Given the description of an element on the screen output the (x, y) to click on. 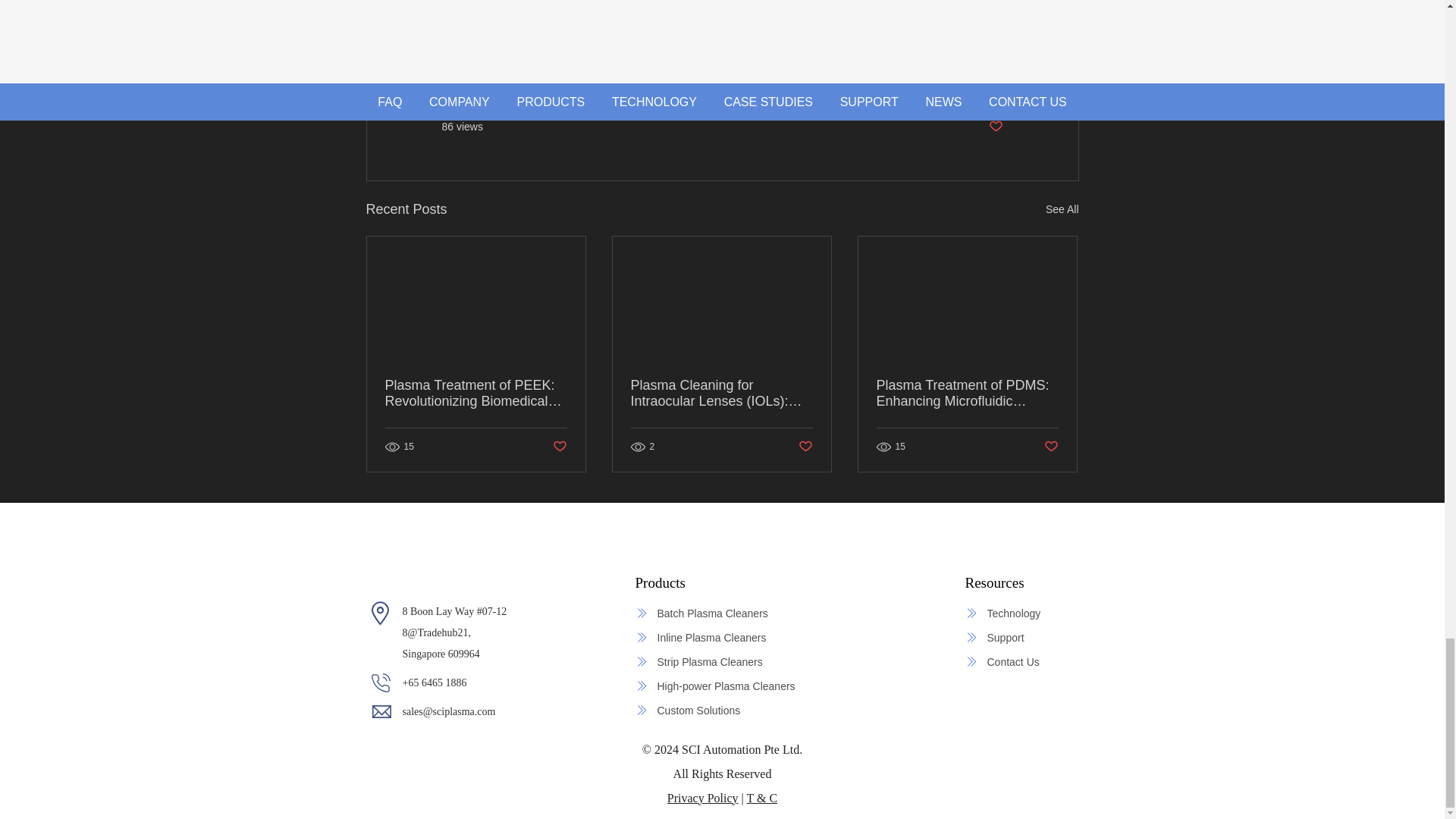
Support (1015, 637)
Technology (1015, 613)
Batch Plasma Cleaners (714, 613)
Post not marked as liked (1050, 446)
Post not marked as liked (995, 126)
High-power Plasma Cleaners (721, 686)
Custom Solutions (721, 710)
Strip Plasma Cleaners (714, 662)
Post not marked as liked (804, 446)
